Given the description of an element on the screen output the (x, y) to click on. 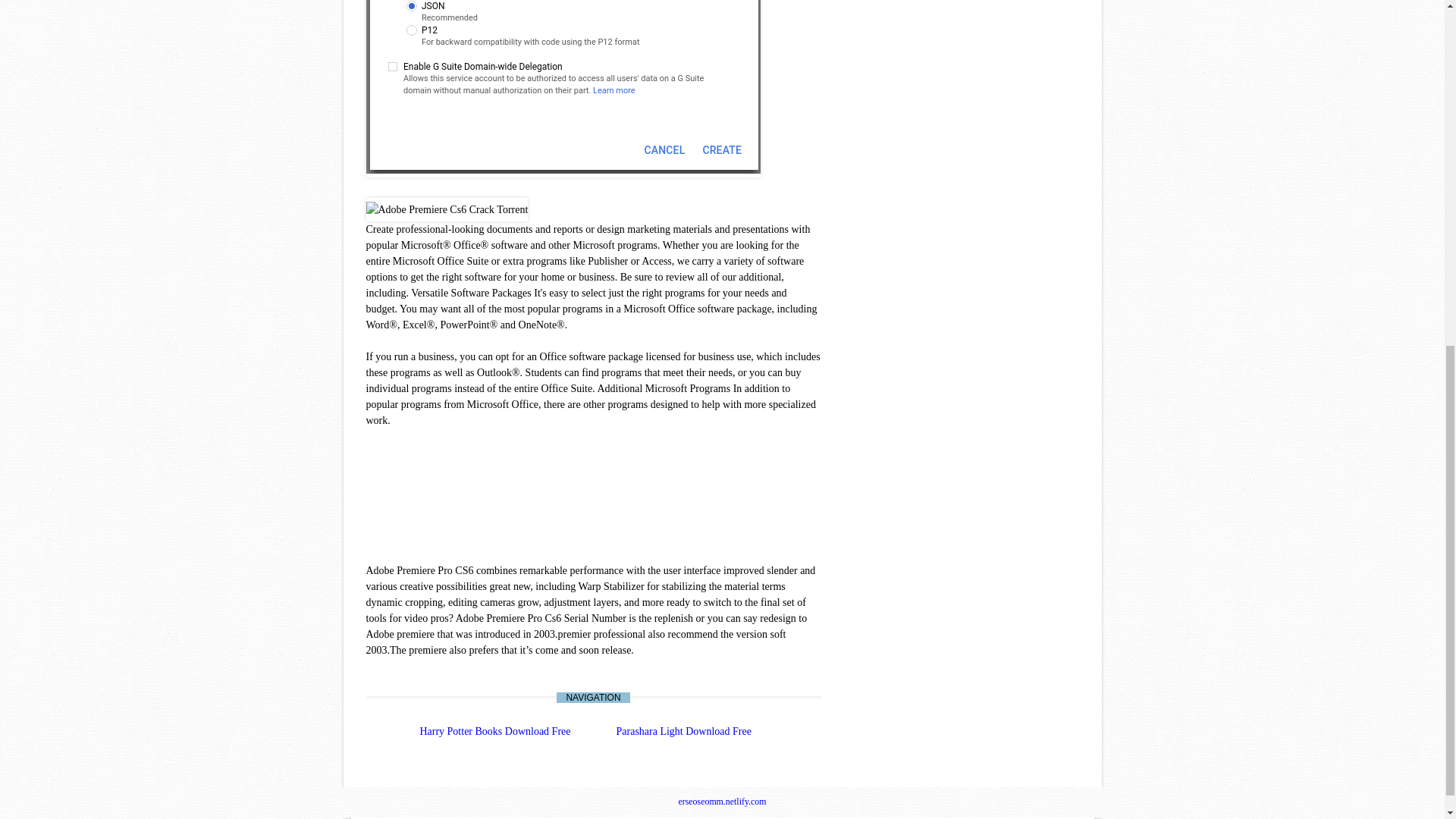
erseoseomm.netlify.com (721, 801)
Parashara Light Download Free (683, 731)
Harry Potter Books Download Free (494, 731)
Adobe Premiere Cs6 Crack Torrent (446, 209)
Driver support key code download (562, 88)
